Given the description of an element on the screen output the (x, y) to click on. 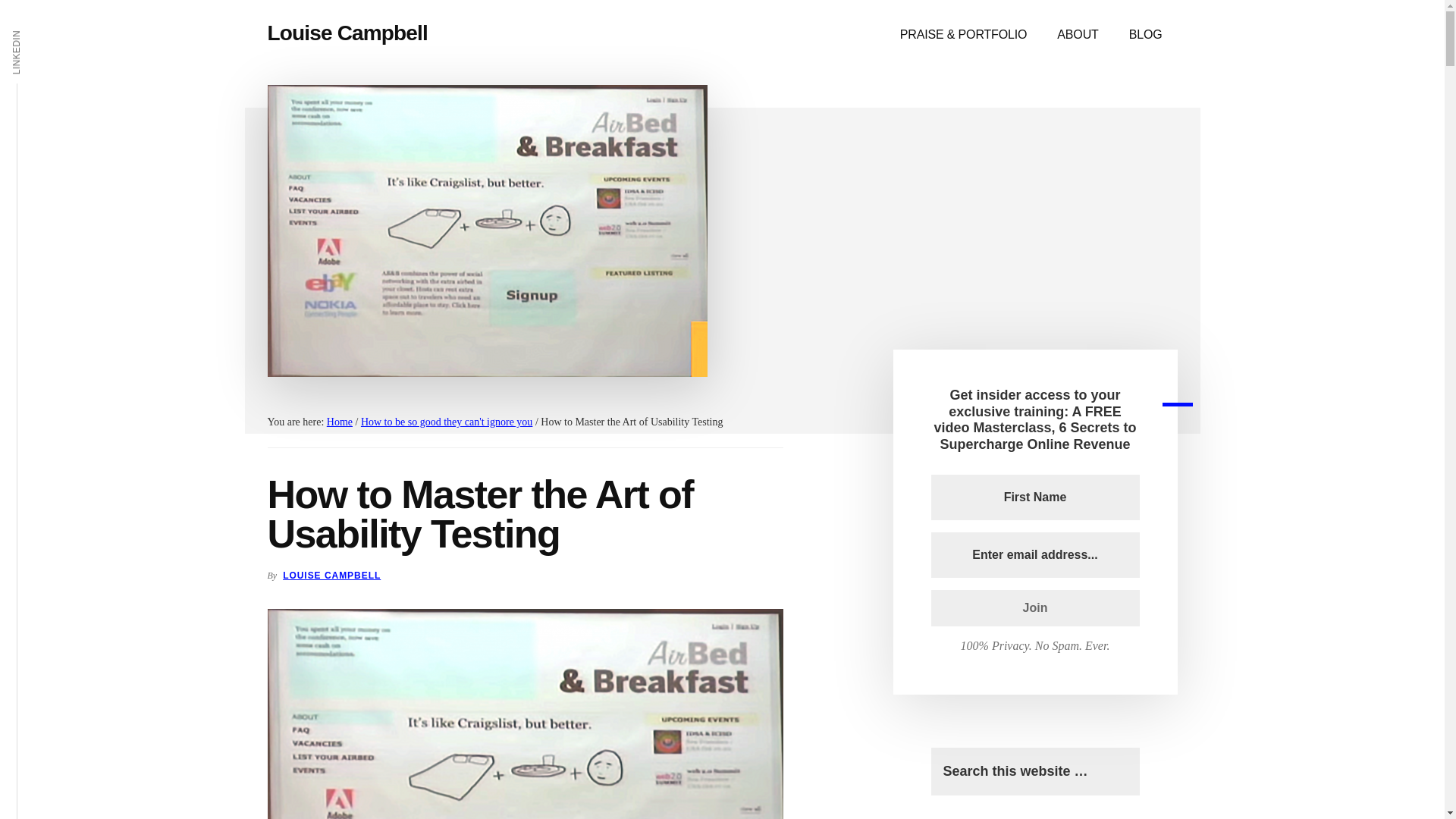
Join (1035, 607)
Louise Campbell (346, 33)
LINKEDIN (39, 28)
How to be so good they can't ignore you (446, 421)
BLOG (1145, 34)
LOUISE CAMPBELL (331, 575)
Home (339, 421)
ABOUT (1077, 34)
Join (1035, 607)
